Given the description of an element on the screen output the (x, y) to click on. 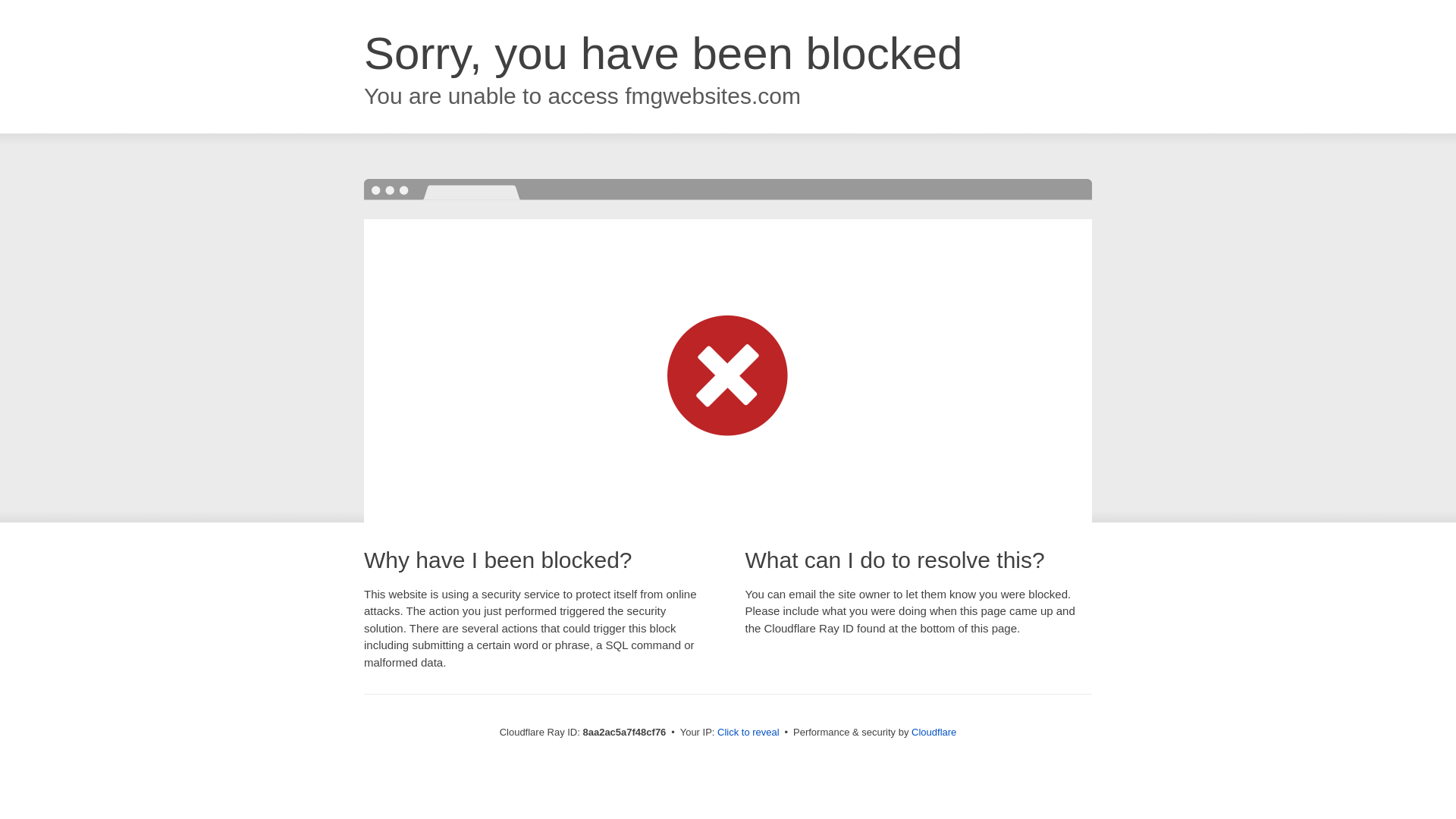
Click to reveal (747, 732)
Cloudflare (933, 731)
